Given the description of an element on the screen output the (x, y) to click on. 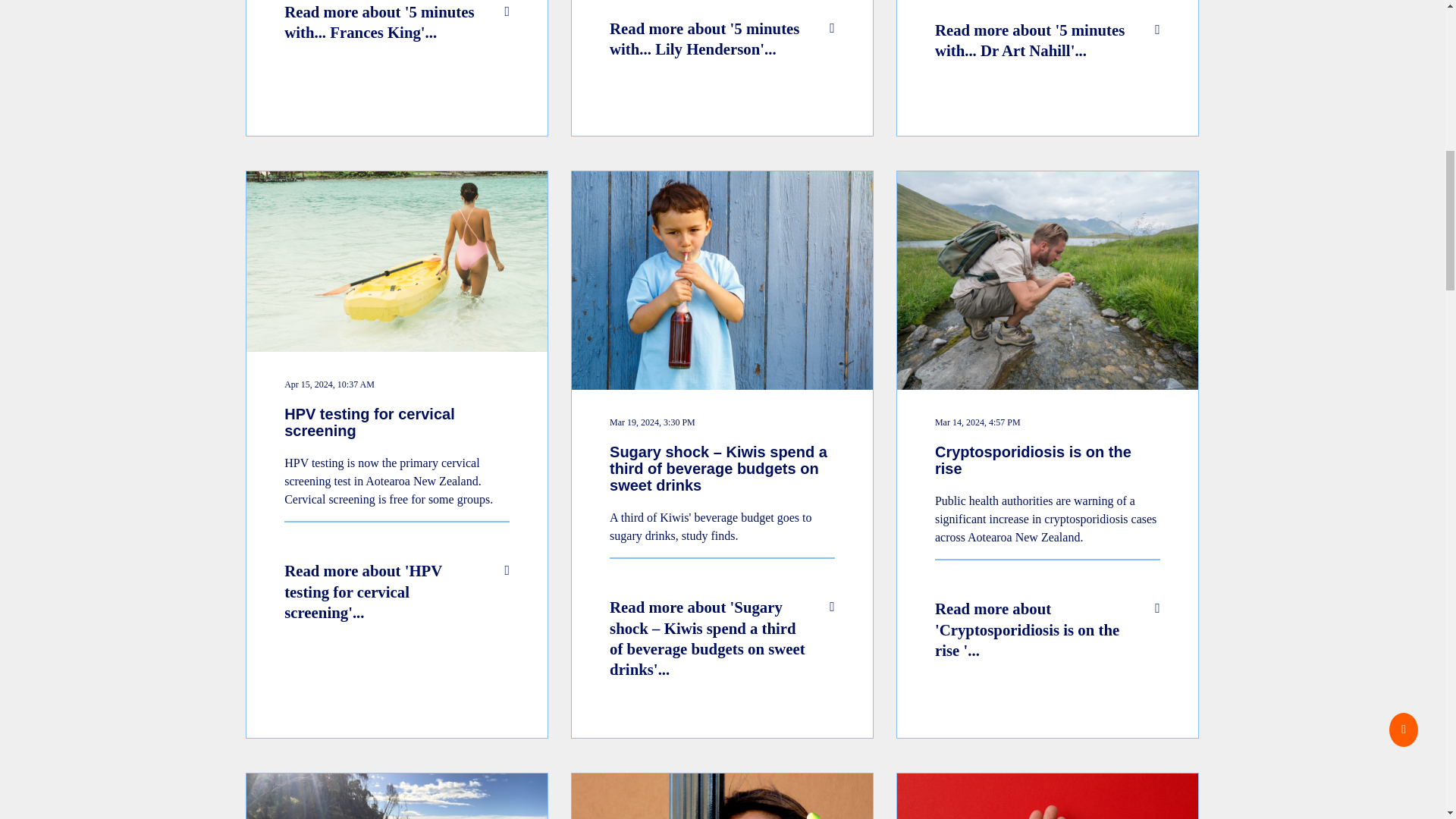
Read more about '5 minutes with... Frances King'... (397, 68)
Read more about '5 minutes with... Lily Henderson'... (721, 68)
Read more about '5 minutes with... Angela Lambie'... (397, 796)
Read more about 'Talavou o le Moana'... (721, 796)
Read more about '5 minutes with... Dr Art Nahill'... (1047, 68)
